Given the description of an element on the screen output the (x, y) to click on. 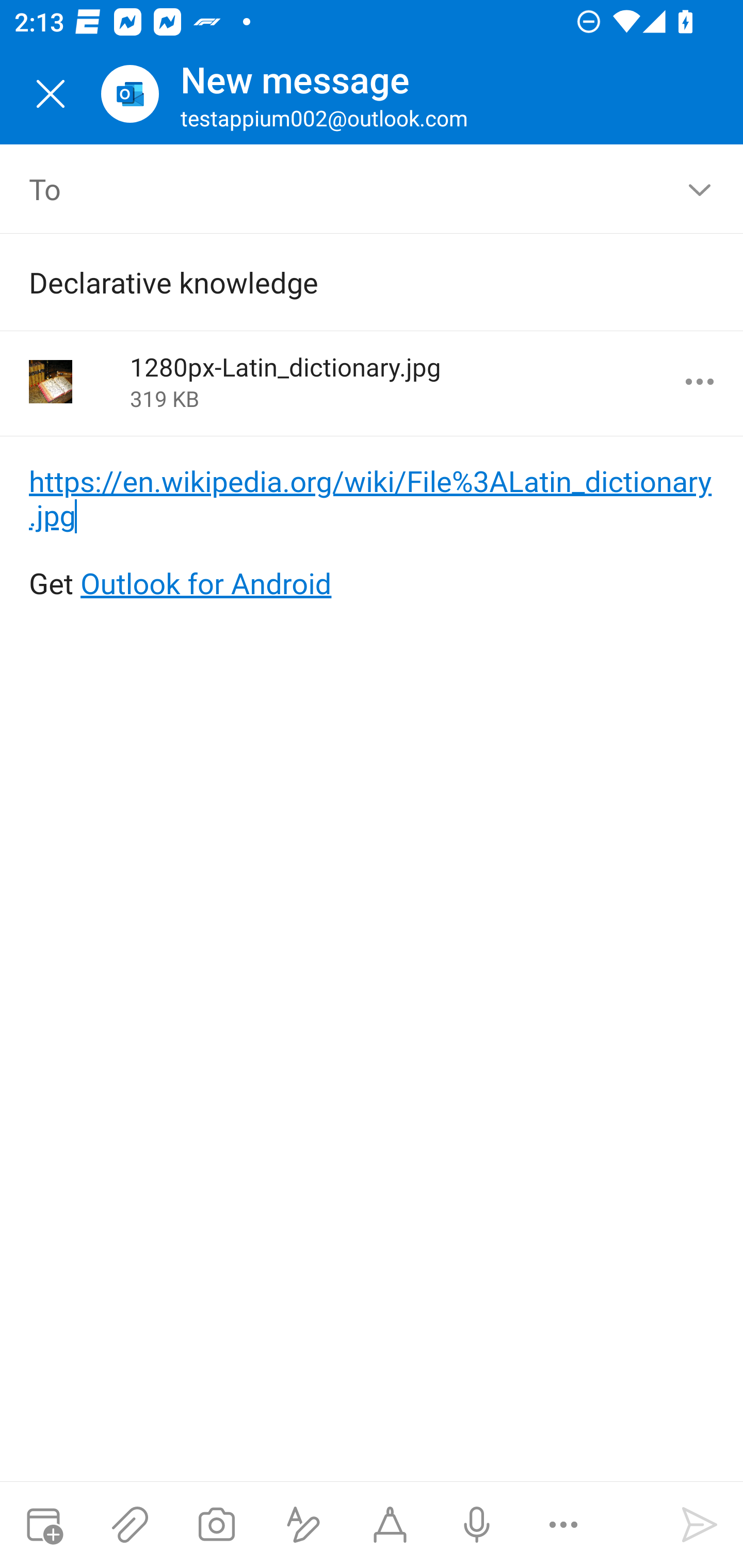
Close (50, 93)
Declarative knowledge (342, 281)
1280px-Latin_dictionary.jpg 319 KB More options (371, 382)
More options (699, 381)
Attach meeting (43, 1524)
Attach files (129, 1524)
Take a photo (216, 1524)
Show formatting options (303, 1524)
Start Ink compose (389, 1524)
Dictation (476, 1524)
More options (563, 1524)
Send (699, 1524)
